Given the description of an element on the screen output the (x, y) to click on. 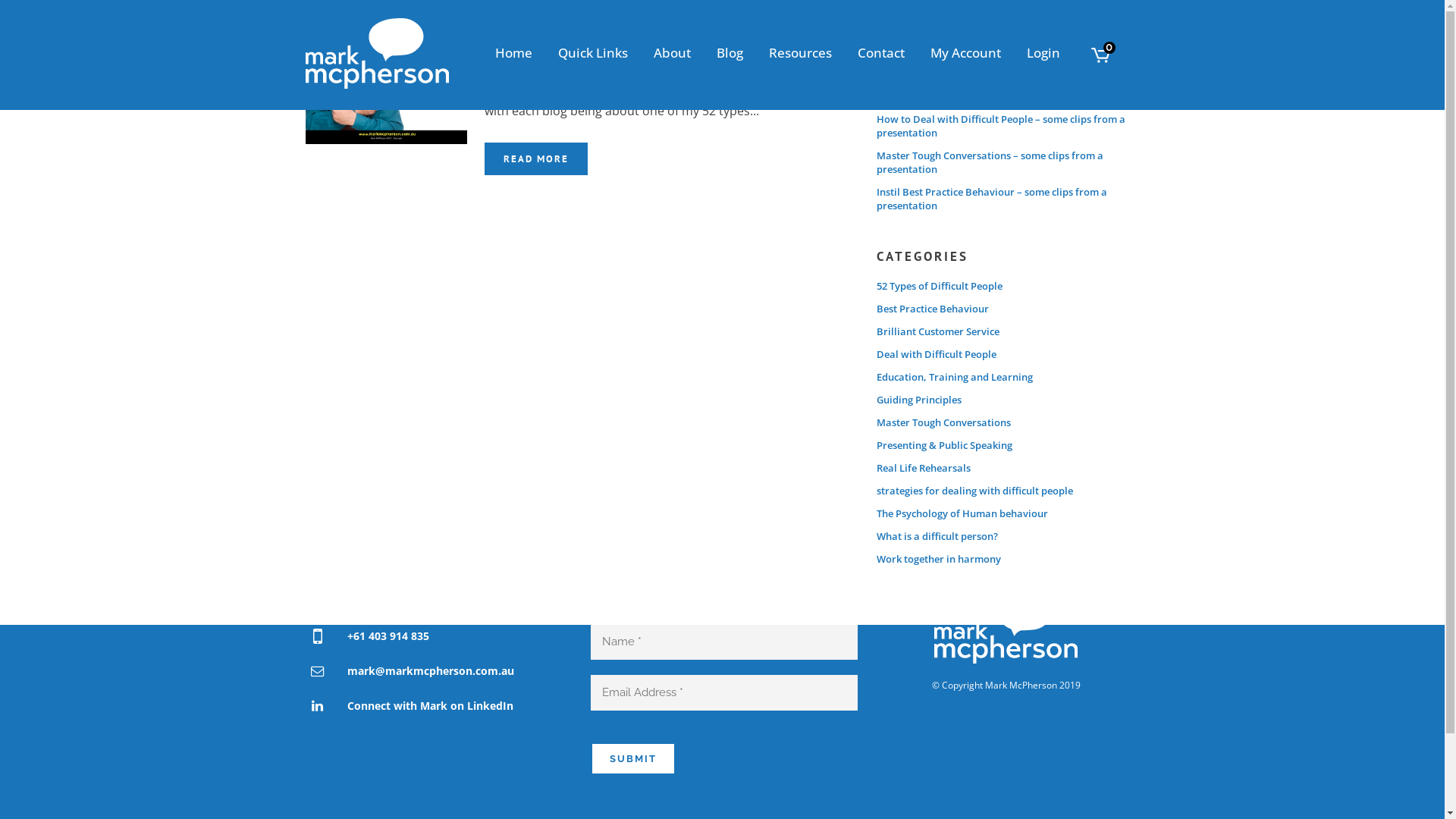
Quick Links Element type: text (592, 53)
Home Element type: text (513, 53)
Master Tough Conversations Element type: text (943, 422)
The Vacillator: one of the 52 types of difficult people. Element type: hover (385, 83)
Login Element type: text (1042, 53)
52 Types of Difficult People Element type: text (939, 285)
Presenting & Public Speaking Element type: text (944, 444)
Submit Element type: text (632, 758)
READ MORE Element type: text (535, 158)
Best Practice Behaviour Element type: text (932, 308)
Work together in harmony Element type: text (938, 558)
What is a difficult person? Element type: text (936, 535)
Guiding Principles Element type: text (918, 399)
Brilliant Customer Service Element type: text (937, 331)
+61 403 914 835 Element type: text (388, 635)
My Account Element type: text (965, 53)
Education, Training and Learning Element type: text (954, 376)
mark@markmcpherson.com.au Element type: text (430, 670)
strategies for dealing with difficult people Element type: text (974, 490)
Connect with Mark on LinkedIn Element type: text (430, 705)
The Psychology of Human behaviour Element type: text (962, 513)
Real Life Rehearsals Element type: text (923, 467)
0 Element type: text (1099, 55)
Blog Element type: text (729, 53)
Deal with Difficult People Element type: text (936, 353)
About Element type: text (671, 53)
Contact Element type: text (880, 53)
Resources Element type: text (799, 53)
The Vacillator: one of the 52 types of difficult people. Element type: text (651, 46)
